Given the description of an element on the screen output the (x, y) to click on. 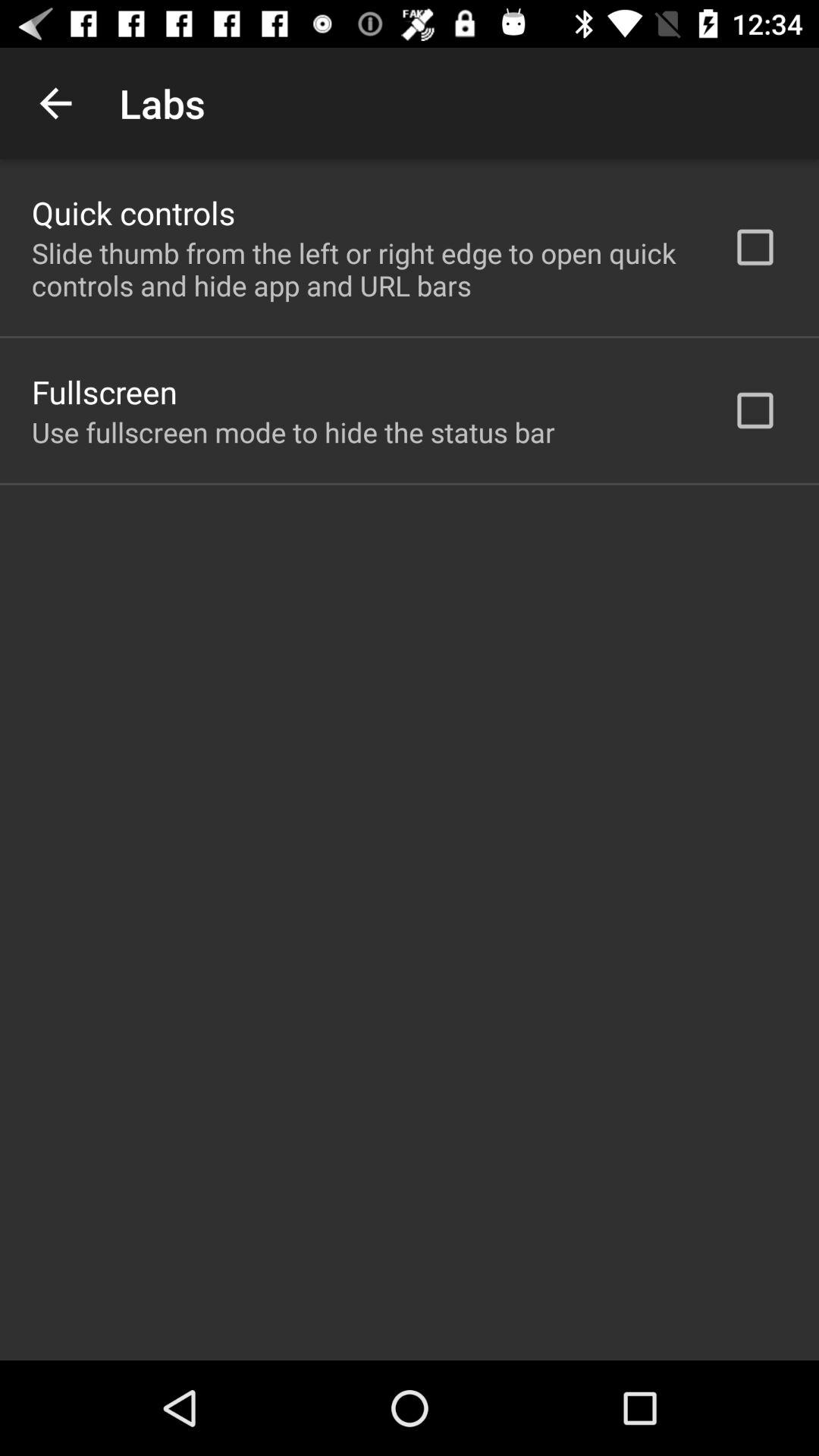
press item above fullscreen item (361, 269)
